Given the description of an element on the screen output the (x, y) to click on. 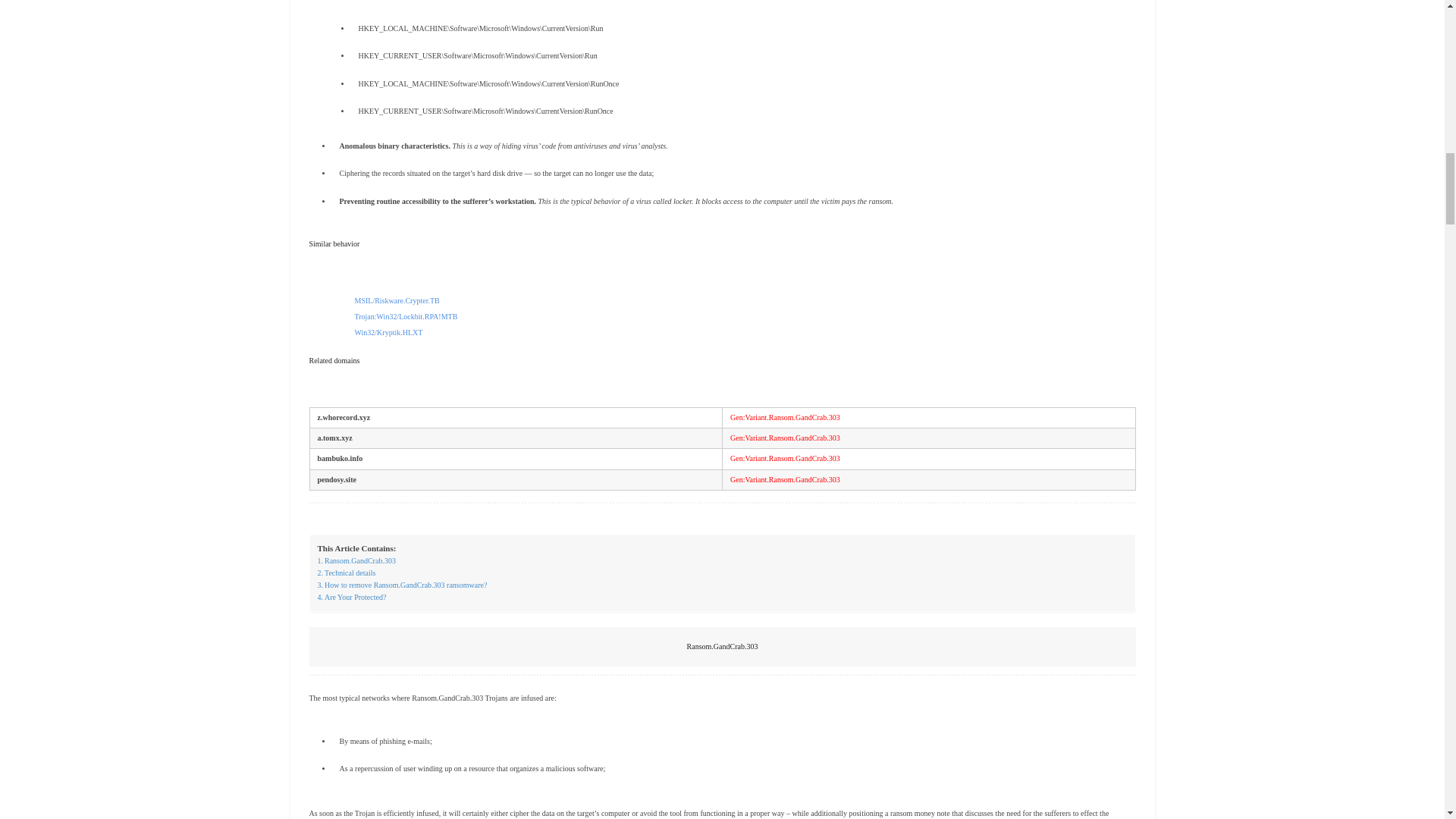
Ransom.GandCrab.303 (355, 561)
Are Your Protected? (351, 597)
How to remove Ransom.GandCrab.303 ransomware? (401, 585)
How to remove Ransom.GandCrab.303 ransomware? (401, 585)
Are Your Protected? (351, 597)
Technical details (346, 573)
Technical details (346, 573)
Ransom.GandCrab.303 (355, 561)
